Given the description of an element on the screen output the (x, y) to click on. 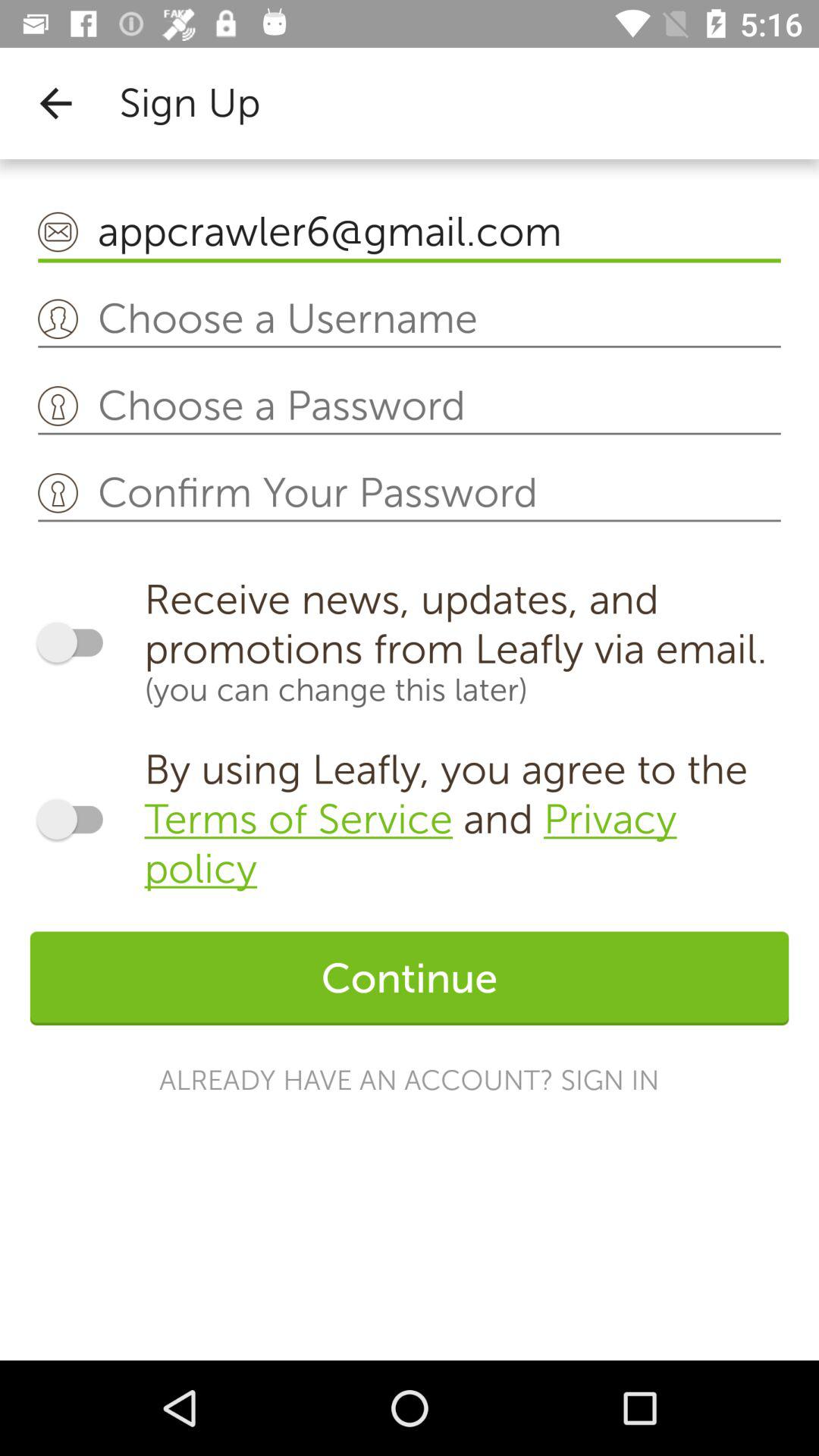
toggle button to receive news updates and promotions (77, 642)
